Given the description of an element on the screen output the (x, y) to click on. 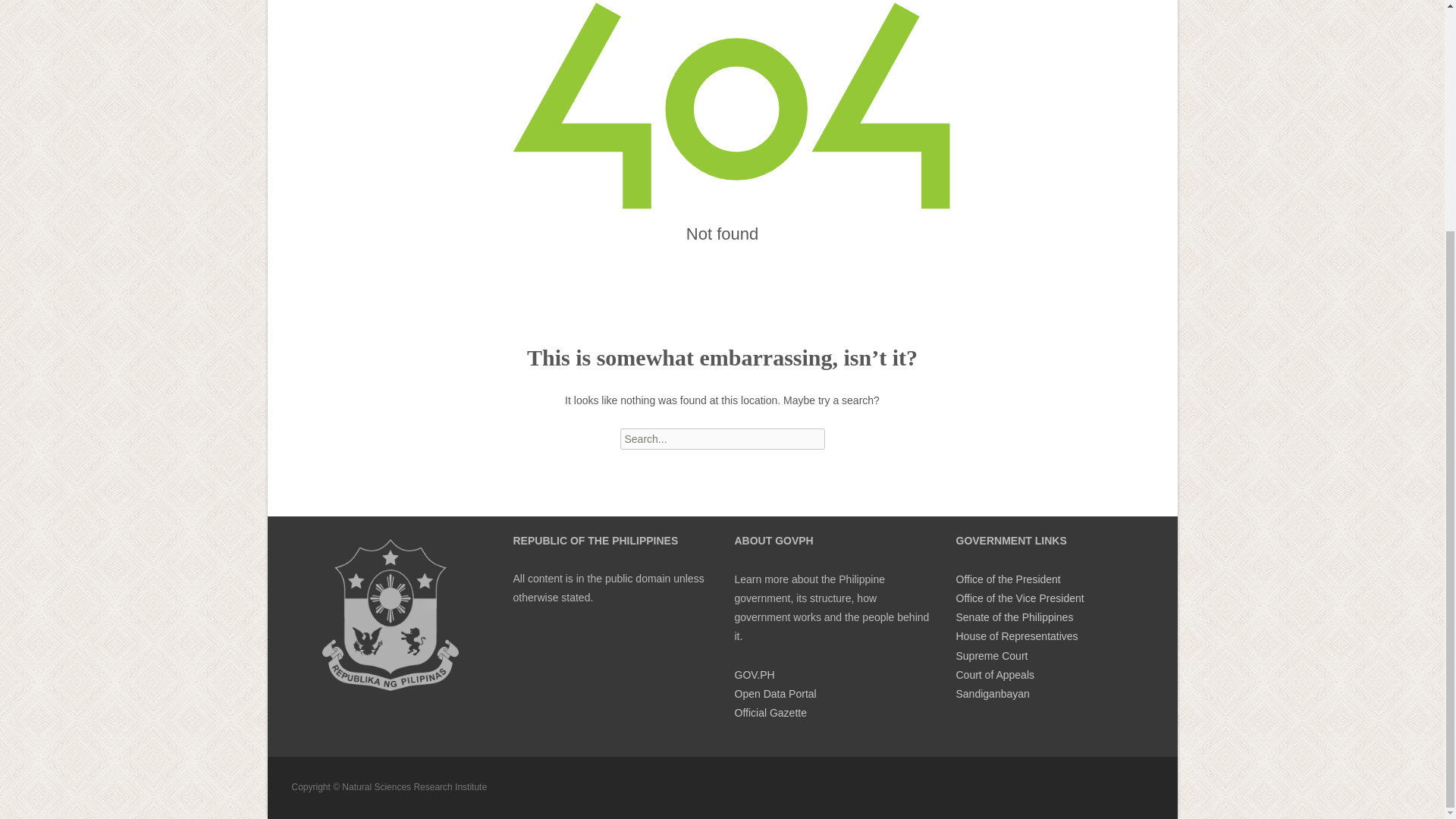
Search for: (722, 438)
Office of the President (1007, 579)
Open Data Portal (774, 693)
House of Representatives (1016, 635)
GOV.PH (753, 674)
Court of Appeals (994, 674)
Office of the Vice President (1019, 598)
Senate of the Philippines (1014, 616)
Supreme Court (991, 655)
Sandiganbayan (992, 693)
Official Gazette (769, 712)
